Given the description of an element on the screen output the (x, y) to click on. 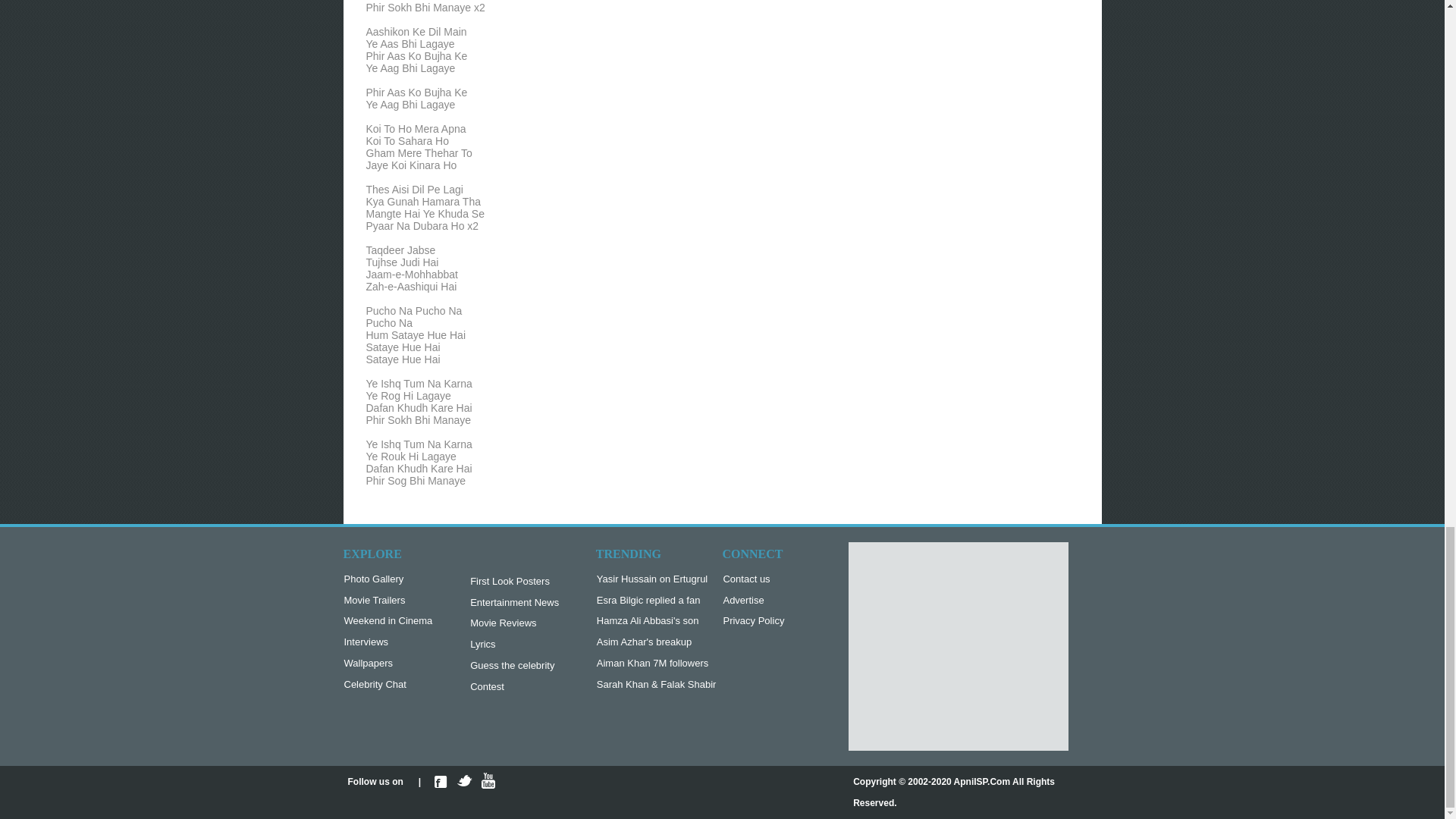
Interviews (387, 642)
Contest (514, 687)
Movie Reviews (514, 623)
Movie Trailers (387, 600)
Yasir Hussain on Ertugrul (656, 579)
Esra Bilgic replied a fan (656, 600)
Wallpapers (387, 663)
Weekend in Cinema (387, 621)
Aiman Khan 7M followers (656, 663)
Celebrity Chat (387, 684)
